Given the description of an element on the screen output the (x, y) to click on. 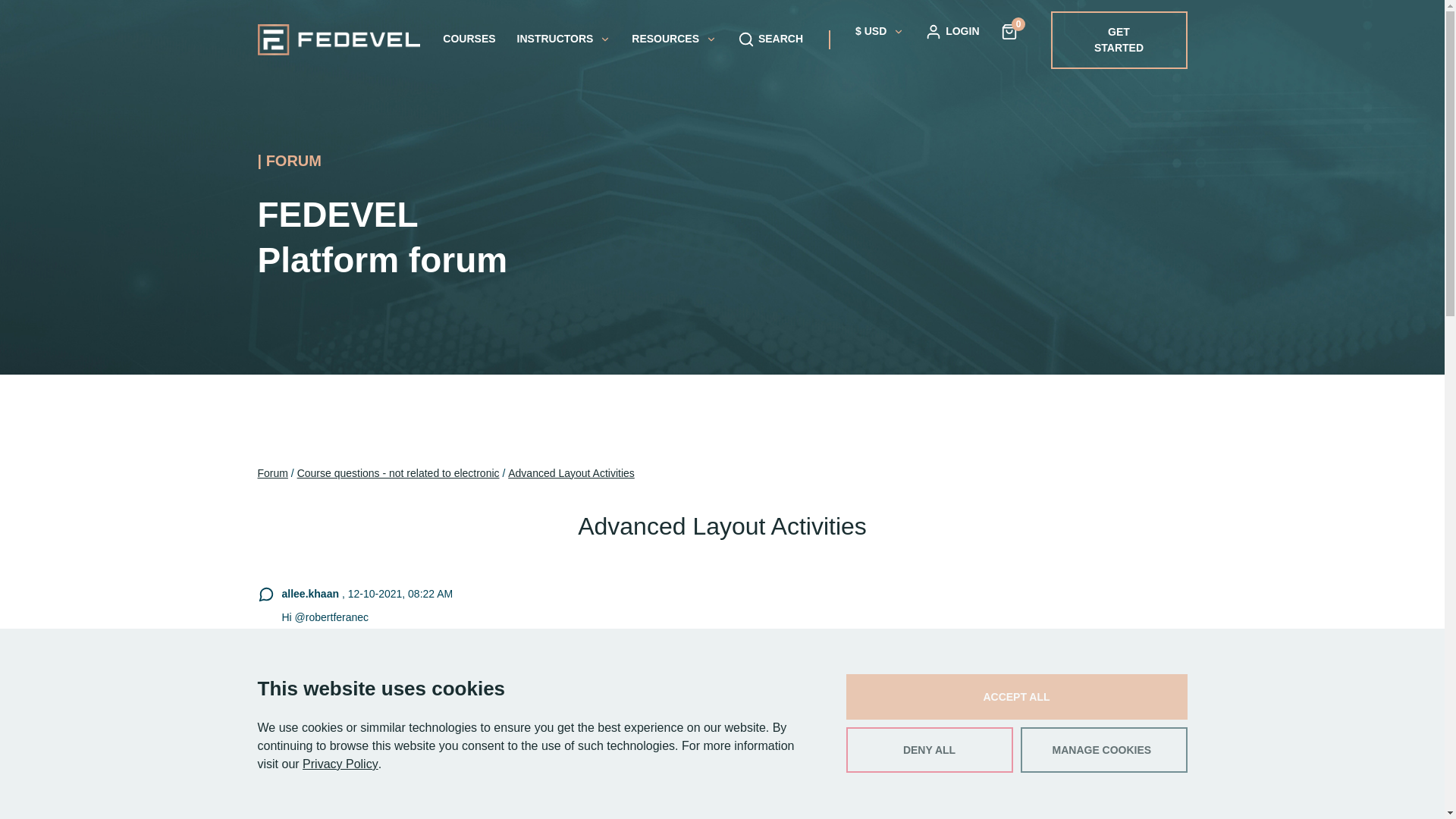
Forum (272, 473)
Advanced Layout Activities (571, 473)
Course questions - not related to electronic (398, 473)
Privacy Policy (340, 764)
RESOURCES  (673, 38)
LOGIN (951, 30)
0 (1009, 30)
SEARCH (770, 39)
ACCEPT ALL (1016, 696)
MANAGE COOKIES (1104, 750)
